Given the description of an element on the screen output the (x, y) to click on. 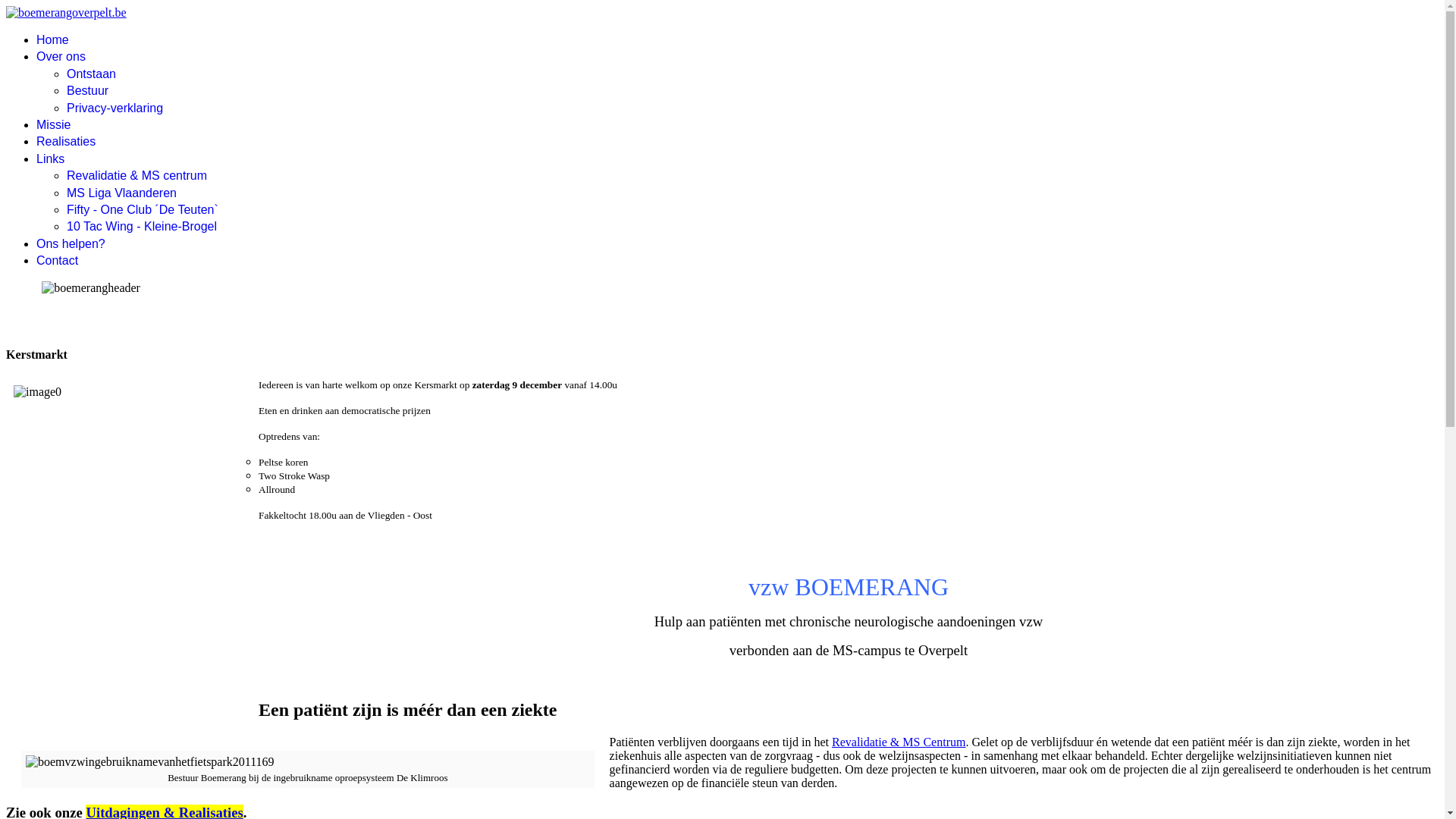
10 Tac Wing - Kleine-Brogel Element type: text (141, 225)
Revalidatie & MS Centrum Element type: text (898, 741)
Realisaties Element type: text (65, 140)
Home Element type: text (52, 39)
Over ons Element type: text (60, 56)
Revalidatie & MS centrum Element type: text (136, 175)
Links Element type: text (50, 158)
Privacy-verklaring Element type: text (114, 107)
Ontstaan Element type: text (91, 73)
Bestuur Element type: text (87, 90)
Ons helpen? Element type: text (70, 243)
MS Liga Vlaanderen Element type: text (121, 192)
Missie Element type: text (53, 124)
Contact Element type: text (57, 260)
